Given the description of an element on the screen output the (x, y) to click on. 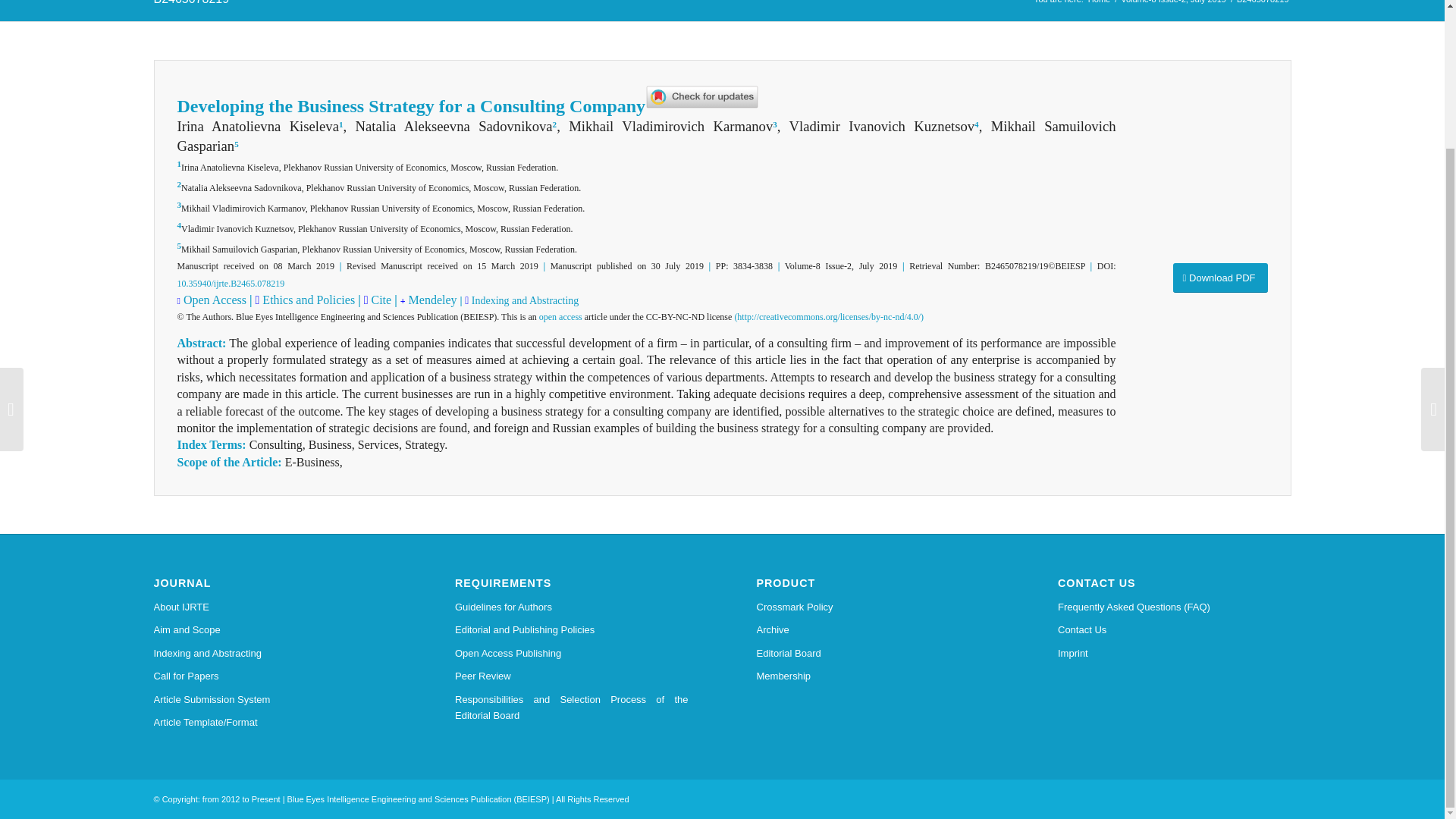
Call for Papers (269, 676)
Indexing and Abstracting (523, 300)
Ethics and Policies (307, 299)
Aim and Scope (269, 630)
Cite (381, 299)
Download PDF (1219, 277)
Guidelines for Authors (571, 607)
Mendeley (431, 299)
About IJRTE (269, 607)
Open Access Publishing (571, 653)
